Given the description of an element on the screen output the (x, y) to click on. 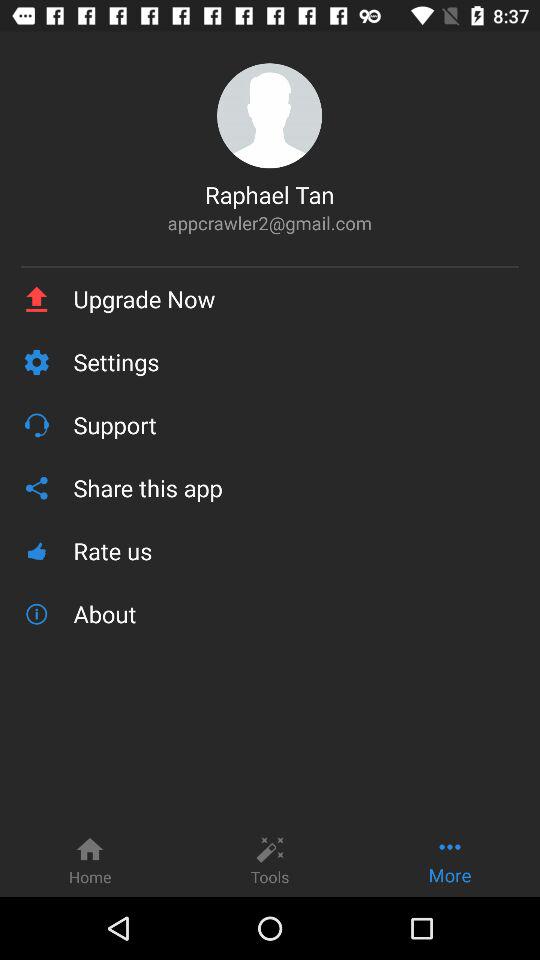
click the icon below the appcrawler2@gmail.com icon (270, 266)
